Given the description of an element on the screen output the (x, y) to click on. 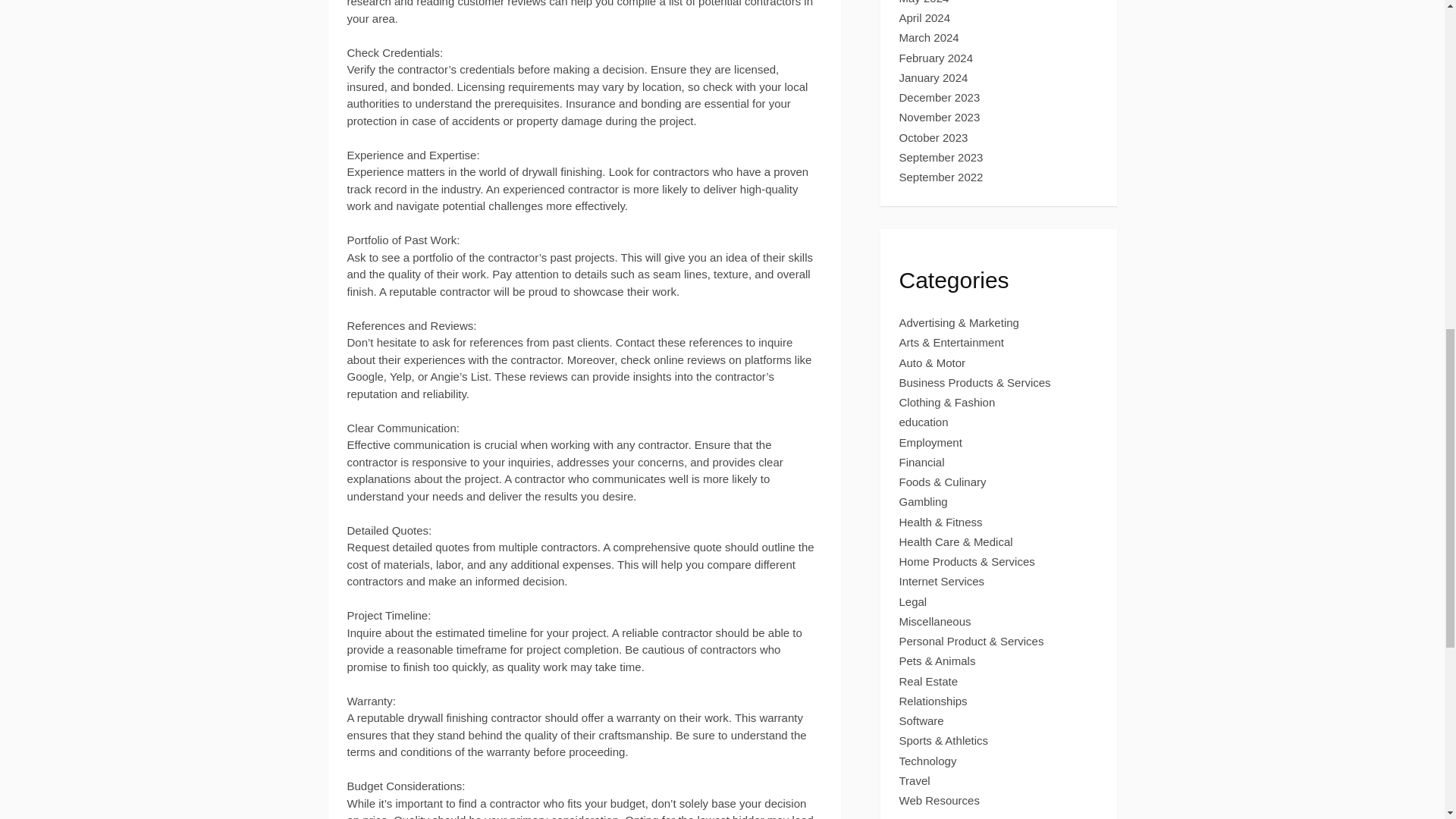
December 2023 (939, 97)
April 2024 (924, 17)
January 2024 (933, 77)
May 2024 (924, 2)
September 2022 (941, 176)
February 2024 (936, 57)
November 2023 (939, 116)
October 2023 (933, 137)
March 2024 (929, 37)
September 2023 (941, 156)
education (924, 421)
